Given the description of an element on the screen output the (x, y) to click on. 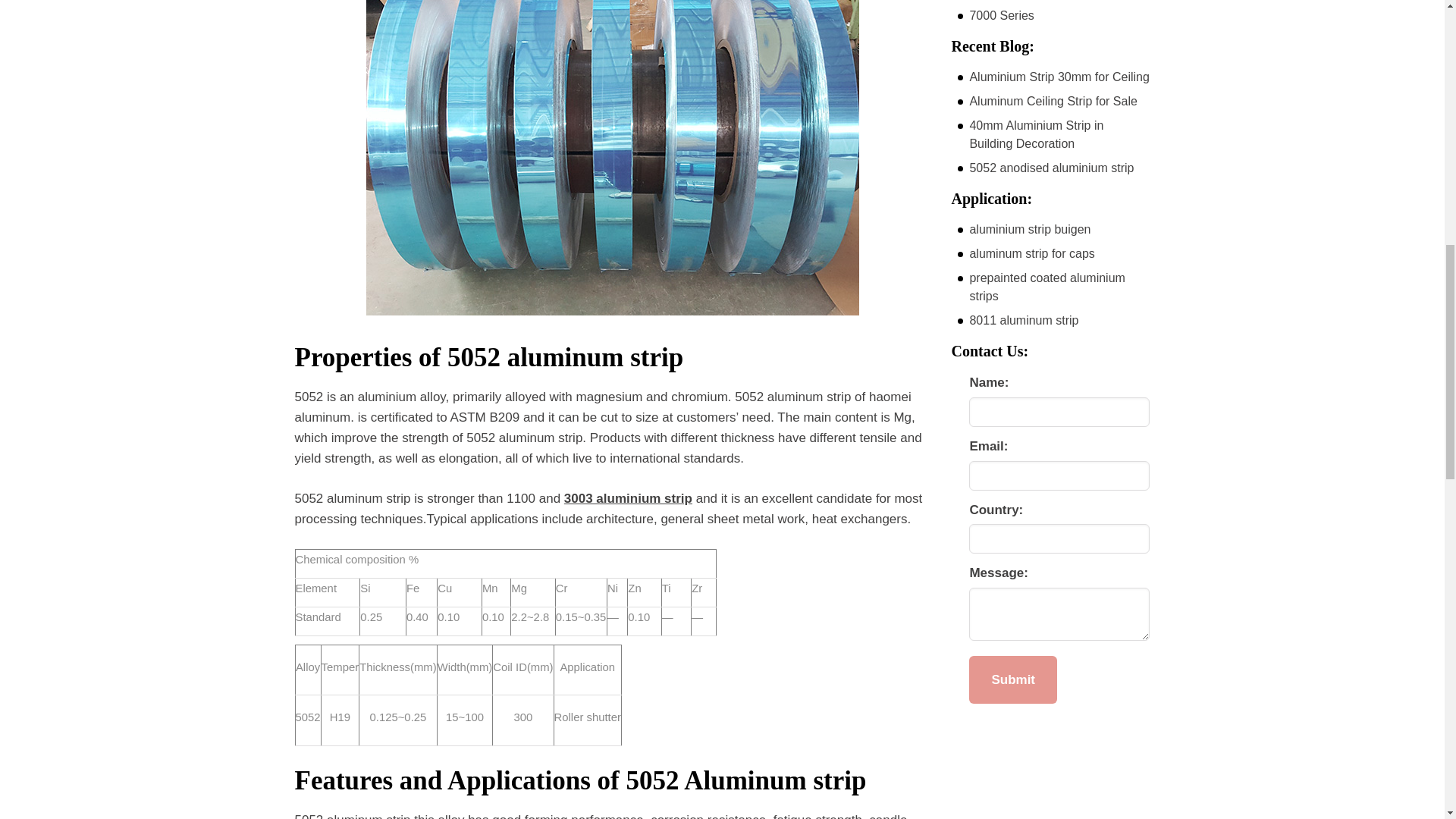
3003 aluminum strip (628, 498)
aluminium strip buigen (1029, 228)
Aluminium Strip 30mm for Ceiling (1058, 76)
Aluminum Ceiling Strip for Sale (1053, 101)
5052 anodised aluminium strip (1051, 167)
3003 aluminium strip (628, 498)
40mm Aluminium Strip in Building Decoration (1036, 133)
7000 Series (1001, 15)
